Given the description of an element on the screen output the (x, y) to click on. 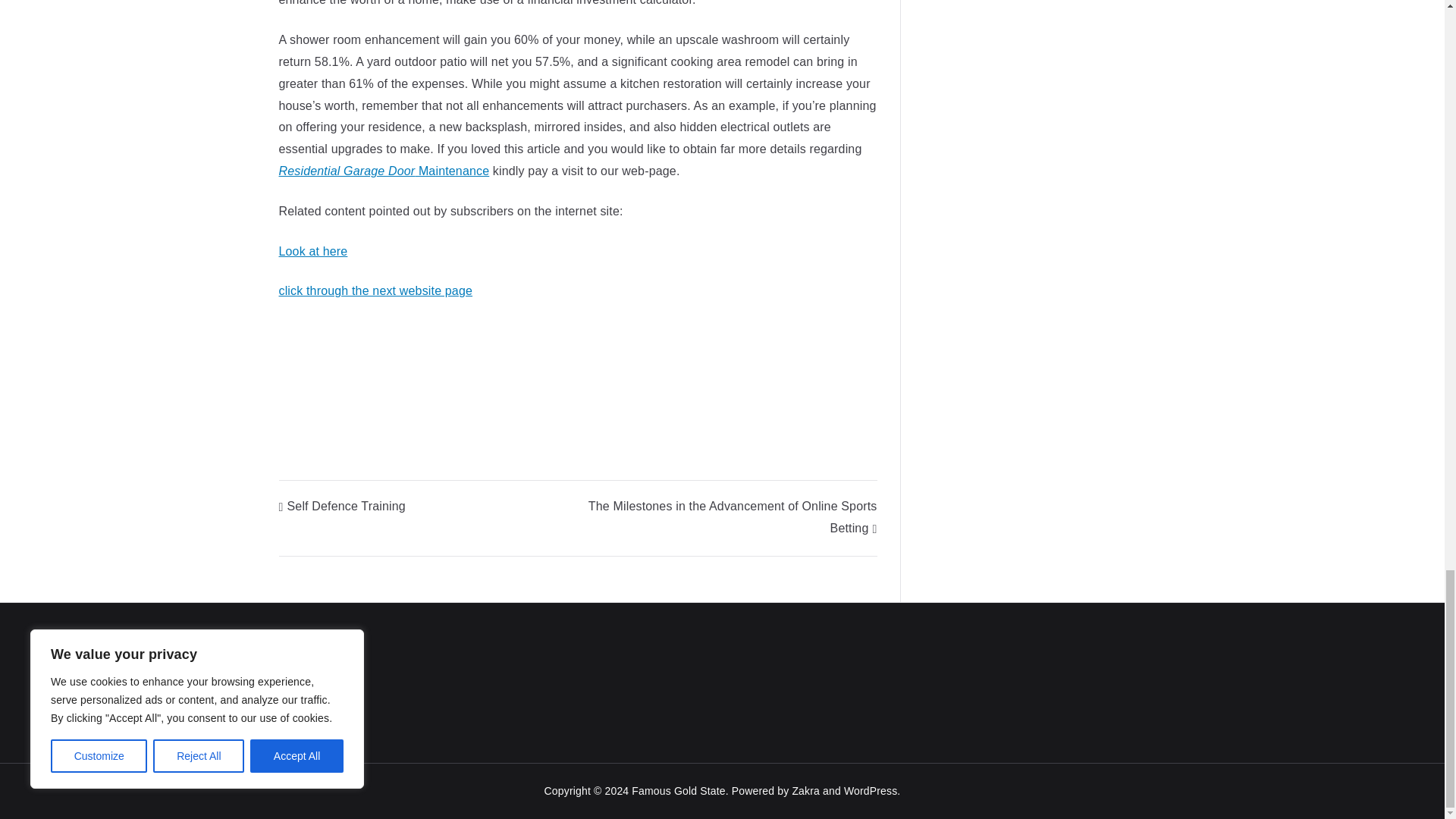
Residential Garage Door Maintenance (384, 170)
Self Defence Training (342, 505)
Famous Gold State (678, 790)
WordPress (870, 790)
Zakra (805, 790)
The Milestones in the Advancement of Online Sports Betting (732, 516)
click through the next website page (376, 290)
Look at here (313, 250)
